Given the description of an element on the screen output the (x, y) to click on. 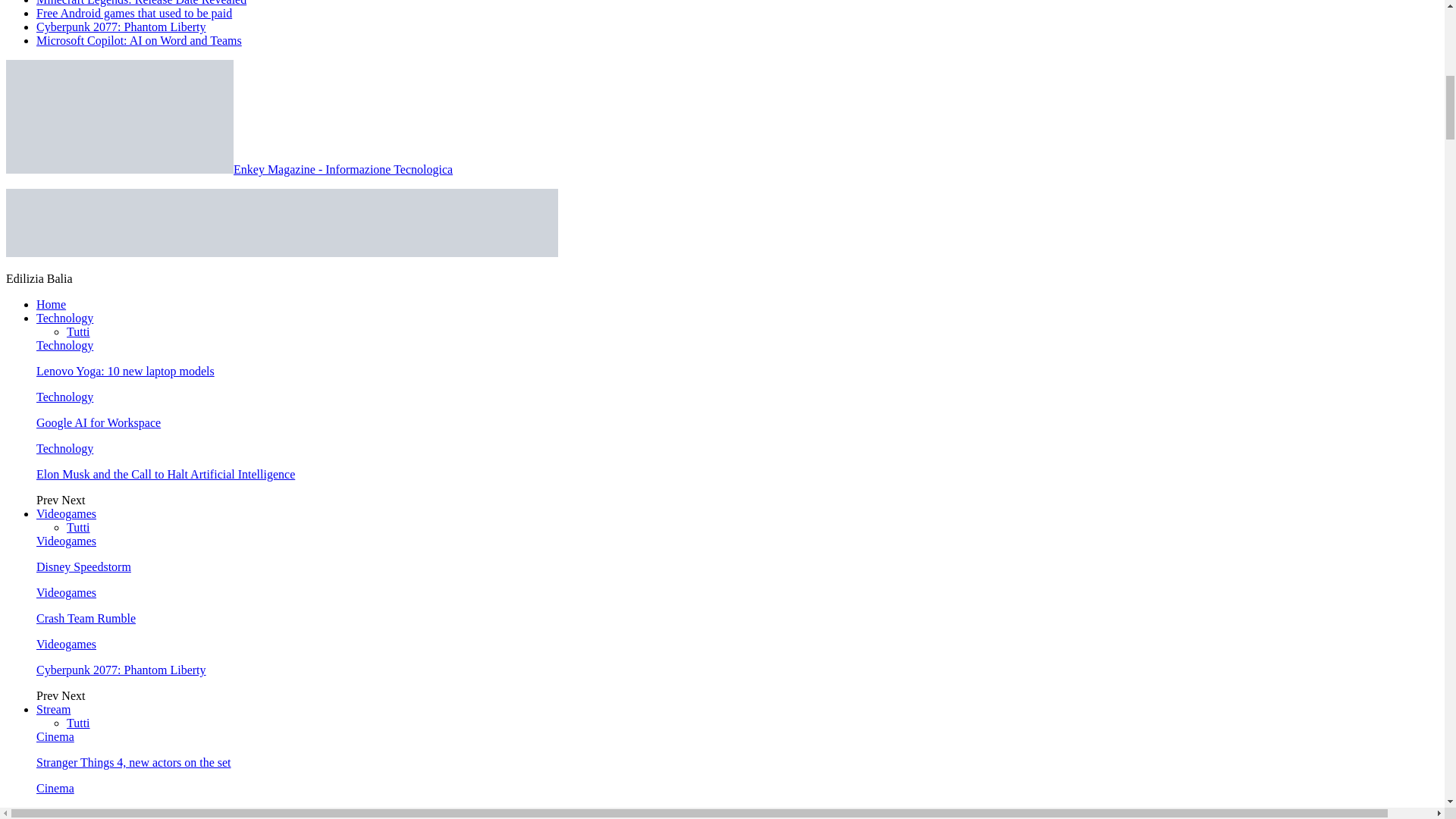
Precedente (48, 499)
Il prossimo (72, 499)
Il prossimo (72, 695)
Precedente (48, 695)
